Given the description of an element on the screen output the (x, y) to click on. 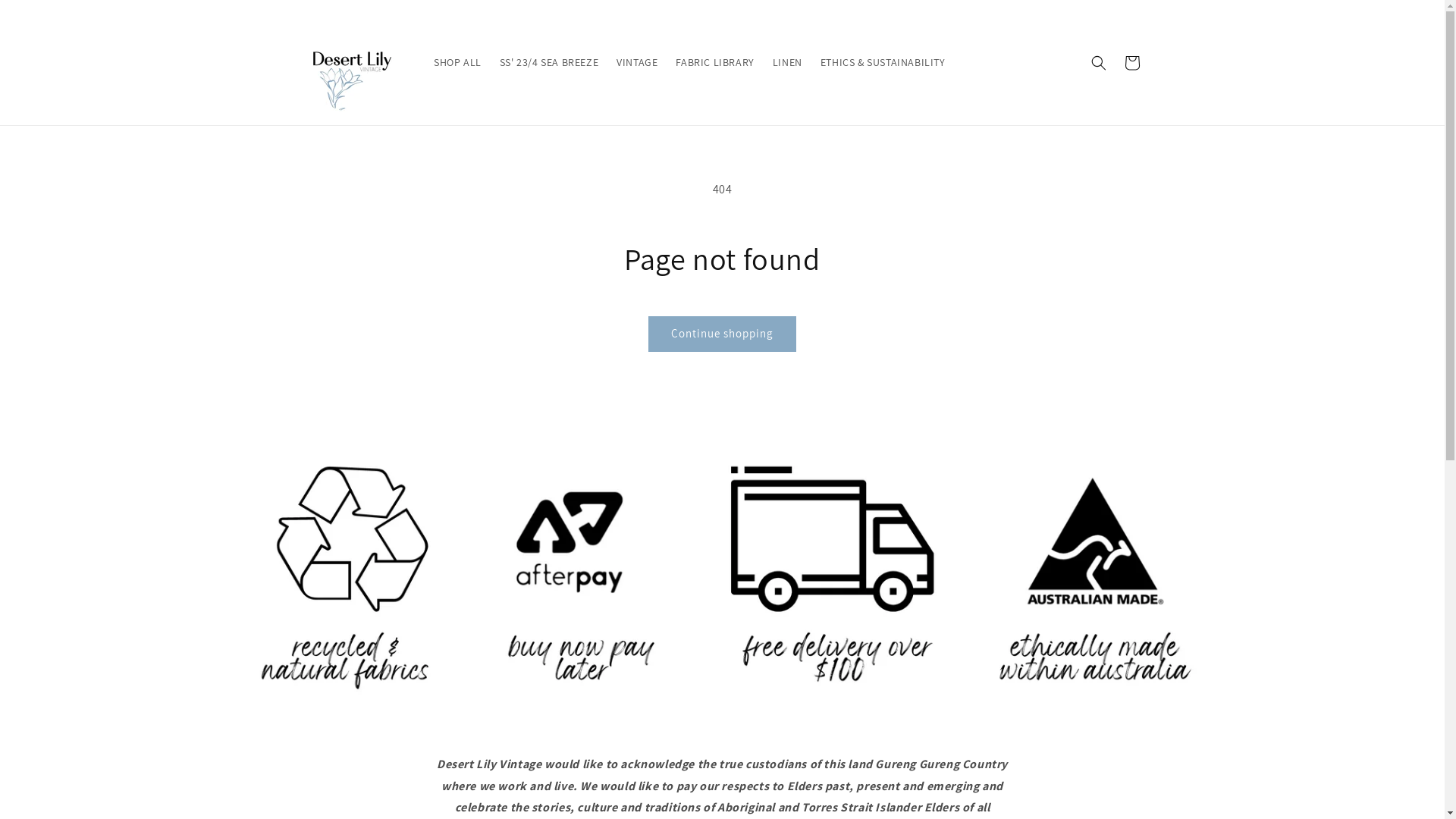
Continue shopping Element type: text (722, 333)
LINEN Element type: text (787, 62)
ETHICS & SUSTAINABILITY Element type: text (882, 62)
FABRIC LIBRARY Element type: text (714, 62)
Cart Element type: text (1131, 61)
SS' 23/4 SEA BREEZE Element type: text (548, 62)
SHOP ALL Element type: text (457, 62)
VINTAGE Element type: text (636, 62)
